Given the description of an element on the screen output the (x, y) to click on. 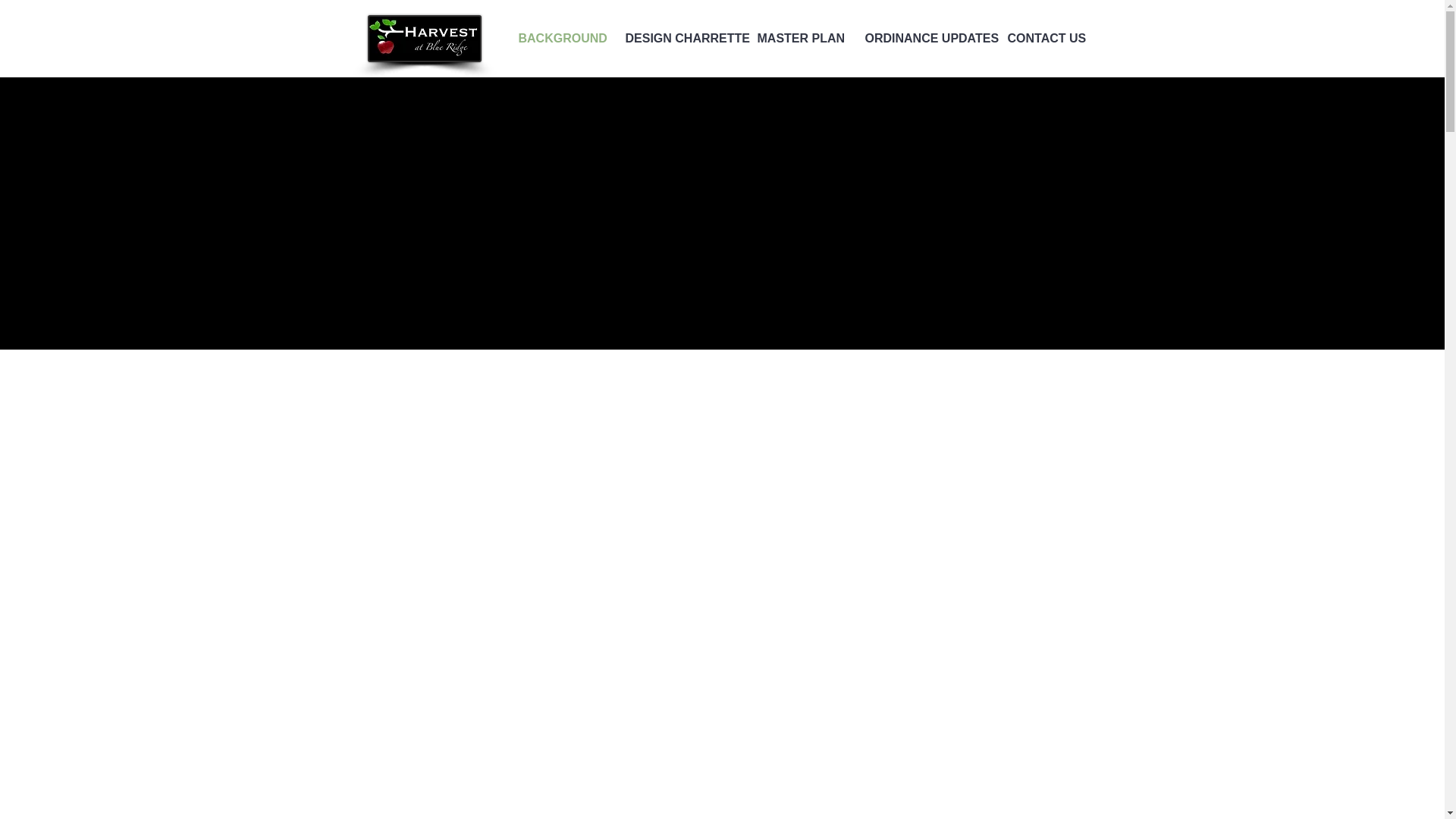
ORDINANCE UPDATES (924, 38)
254A5D53-4D67-4A08-B64C-2FDC56C7BBF6.jpe (423, 38)
DESIGN CHARRETTE (679, 38)
MASTER PLAN (799, 38)
CONTACT US (1044, 38)
BACKGROUND (559, 38)
